Given the description of an element on the screen output the (x, y) to click on. 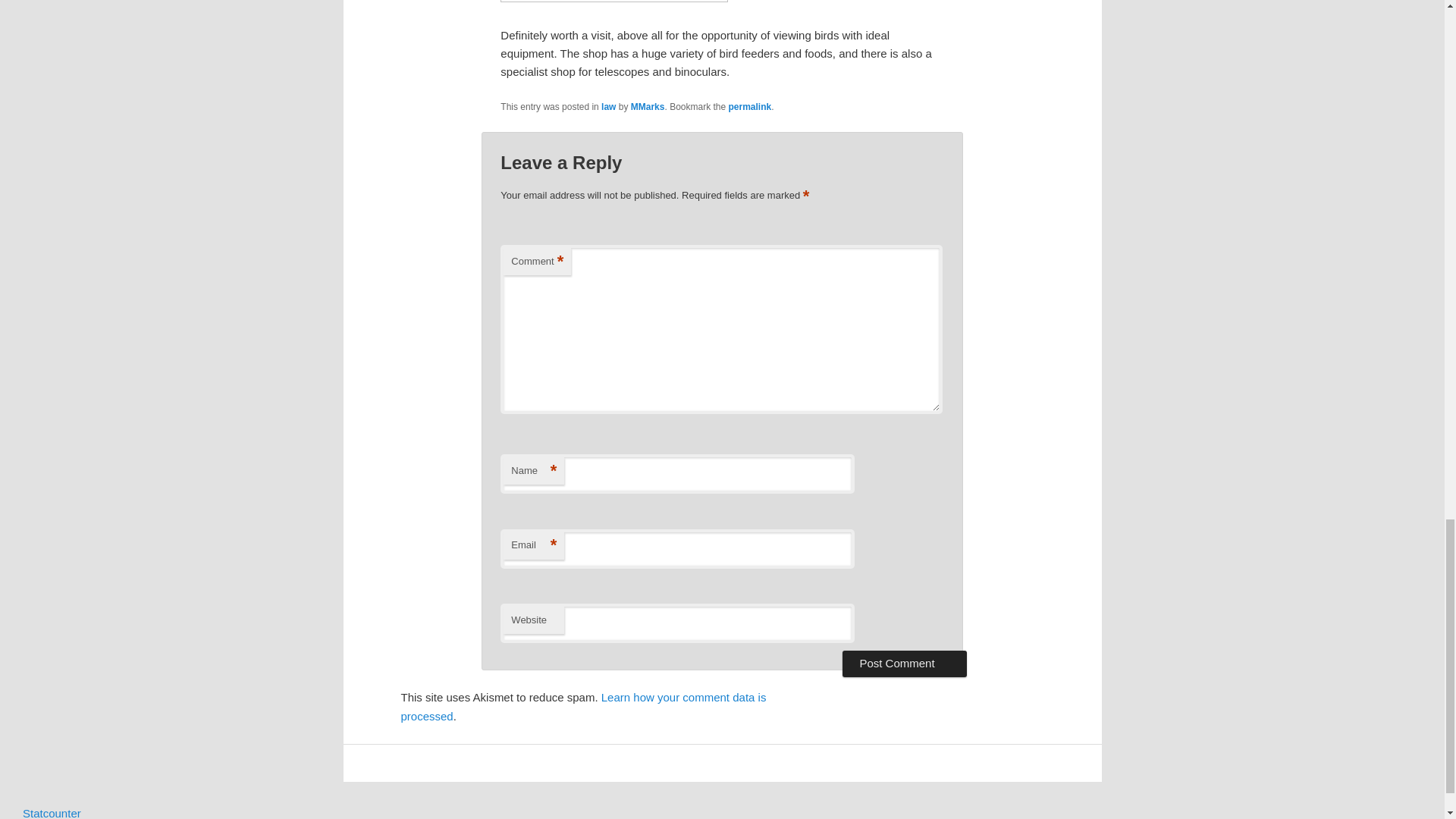
Post Comment (904, 663)
permalink (750, 106)
law (608, 106)
Post Comment (904, 663)
MMarks (647, 106)
Learn how your comment data is processed (582, 706)
